Given the description of an element on the screen output the (x, y) to click on. 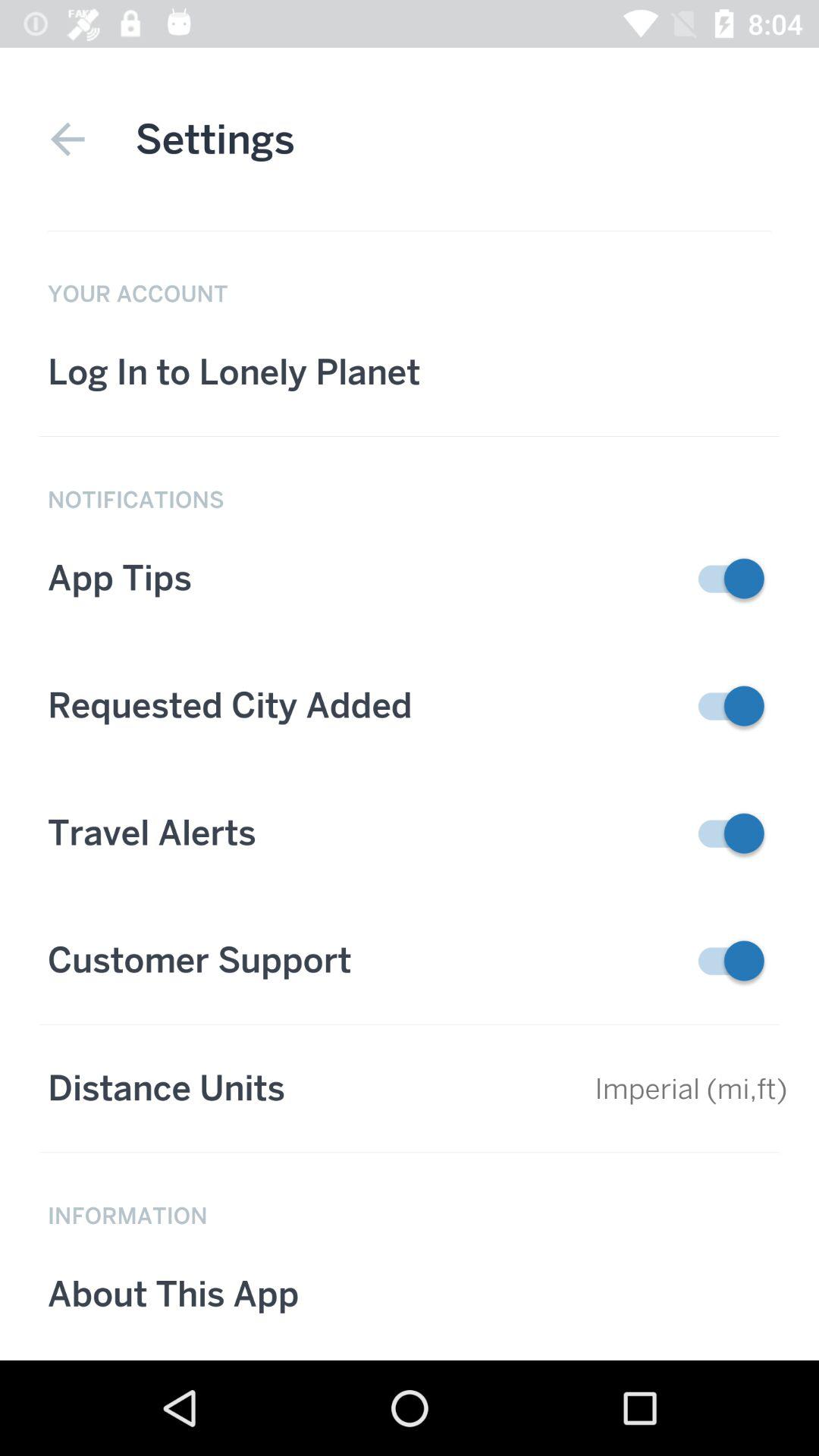
select the tab below text notification (409, 578)
select the button which is below information (409, 1294)
select the text which is immediately above information (409, 1089)
